Given the description of an element on the screen output the (x, y) to click on. 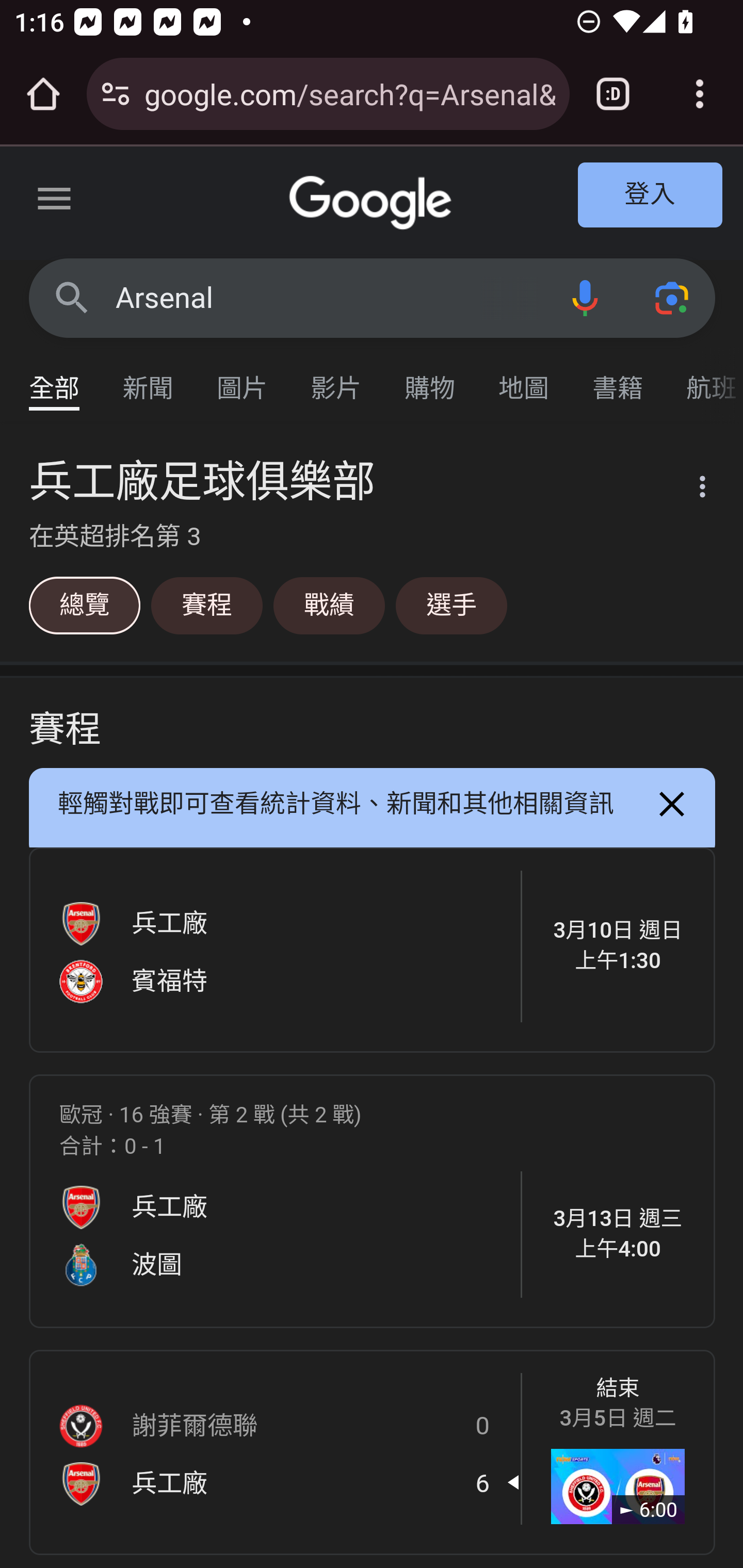
Open the home page (43, 93)
Connection is secure (115, 93)
Switch or close tabs (612, 93)
Customize and control Google Chrome (699, 93)
主選單 (54, 202)
Google (372, 203)
登入 (650, 195)
Google 搜尋 (71, 296)
使用相機或相片搜尋 (672, 296)
Arsenal (328, 297)
新聞 (148, 378)
圖片 (242, 378)
影片 (336, 378)
購物 (430, 378)
地圖 (524, 378)
書籍 (618, 378)
航班 (703, 378)
更多選項 (690, 489)
總覽 (83, 605)
賽程 (206, 605)
戰績 (329, 605)
選手 (451, 605)
關閉 (672, 804)
